Given the description of an element on the screen output the (x, y) to click on. 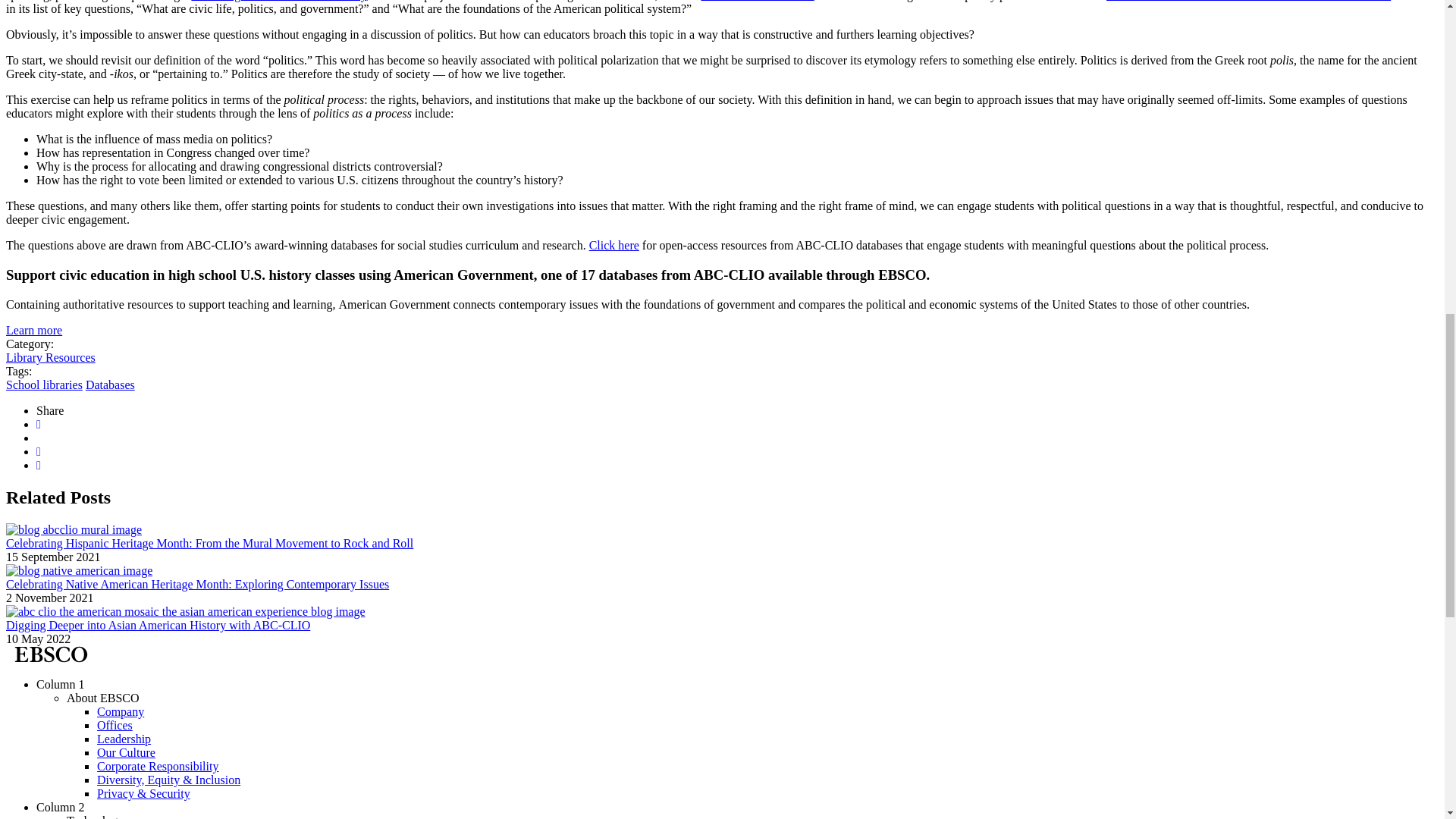
School libraries (43, 384)
Click here (614, 245)
Databases (110, 384)
one of its seven themes (756, 0)
Learn more (33, 329)
